Given the description of an element on the screen output the (x, y) to click on. 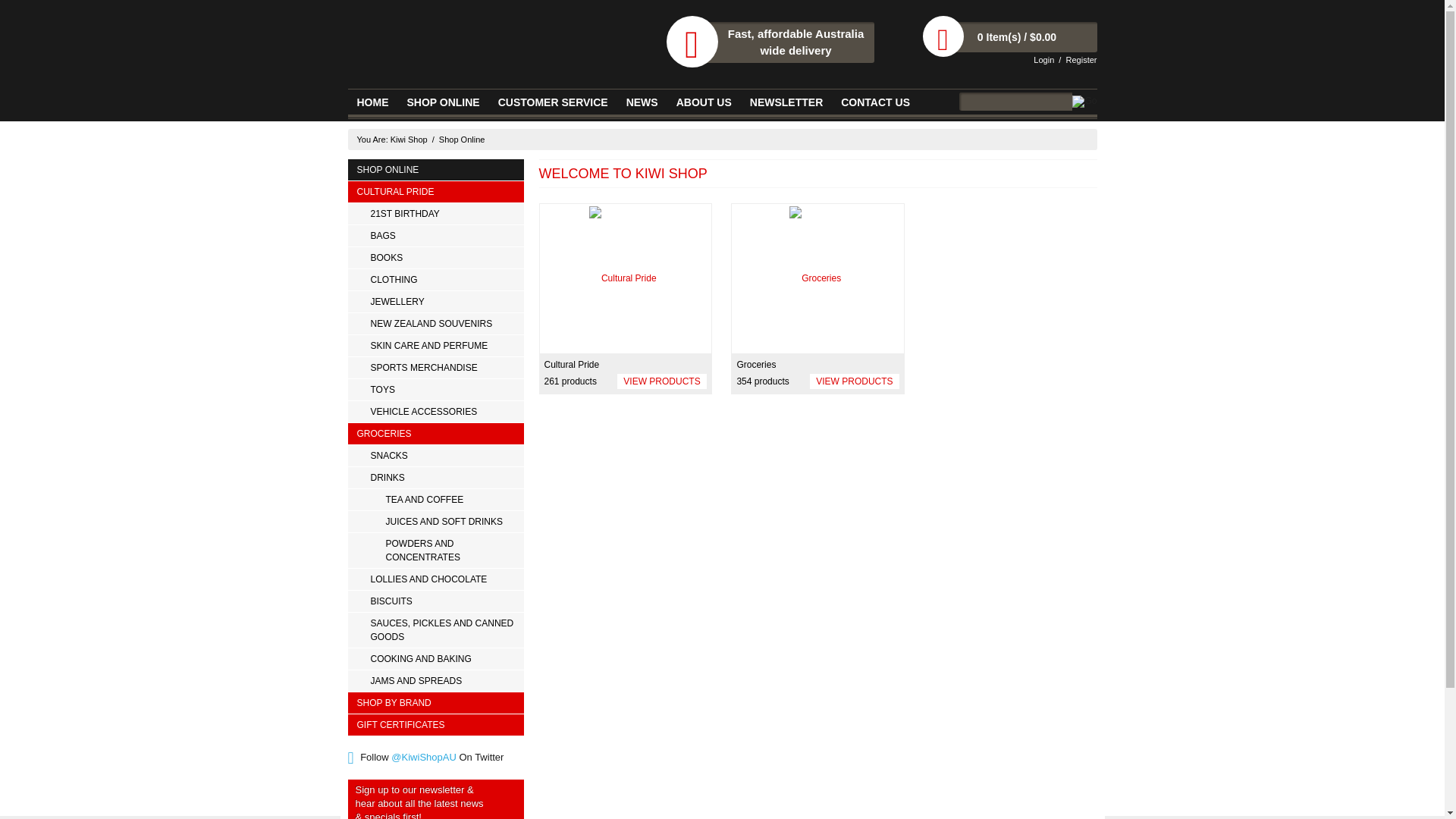
SHOP BY BRAND Element type: text (435, 702)
  Groceries
VIEW PRODUCTS
354 products Element type: text (817, 298)
VIEW PRODUCTS Element type: text (661, 381)
BISCUITS Element type: text (435, 600)
BAGS Element type: text (435, 235)
ABOUT US Element type: text (703, 103)
SAUCES, PICKLES AND CANNED GOODS Element type: text (435, 629)
TEA AND COFFEE Element type: text (435, 499)
  Element type: text (817, 278)
LOLLIES AND CHOCOLATE Element type: text (435, 578)
SPORTS MERCHANDISE Element type: text (435, 367)
SHOP ONLINE Element type: text (435, 169)
CLOTHING Element type: text (435, 279)
Follow @KiwiShopAU On Twitter Element type: text (425, 756)
JAMS AND SPREADS Element type: text (435, 680)
GIFT CERTIFICATES Element type: text (435, 724)
  Cultural Pride
VIEW PRODUCTS
261 products Element type: text (624, 298)
Kiwi Shop - Element type: text (481, 42)
Search for products... Element type: hover (1015, 101)
TOYS Element type: text (435, 389)
21ST BIRTHDAY Element type: text (435, 213)
CUSTOMER SERVICE Element type: text (553, 103)
NEW ZEALAND SOUVENIRS Element type: text (435, 323)
Fast, affordable Australia wide delivery Element type: text (777, 41)
Shop Online Element type: text (462, 139)
Kiwi Shop Element type: text (408, 139)
Register Element type: text (1081, 59)
NEWSLETTER Element type: text (785, 103)
NEWS Element type: text (642, 103)
0 Item(s) / $0.00 Element type: text (1017, 36)
JUICES AND SOFT DRINKS Element type: text (435, 521)
CULTURAL PRIDE Element type: text (435, 191)
VEHICLE ACCESSORIES Element type: text (435, 411)
VIEW PRODUCTS Element type: text (853, 381)
CONTACT US Element type: text (875, 103)
GROCERIES Element type: text (435, 433)
Login Element type: text (1043, 59)
SNACKS Element type: text (435, 455)
BOOKS Element type: text (435, 257)
DRINKS Element type: text (435, 477)
POWDERS AND CONCENTRATES Element type: text (435, 550)
  Element type: text (625, 278)
COOKING AND BAKING Element type: text (435, 658)
JEWELLERY Element type: text (435, 301)
SHOP ONLINE Element type: text (442, 103)
HOME Element type: text (372, 103)
SKIN CARE AND PERFUME Element type: text (435, 345)
